Given the description of an element on the screen output the (x, y) to click on. 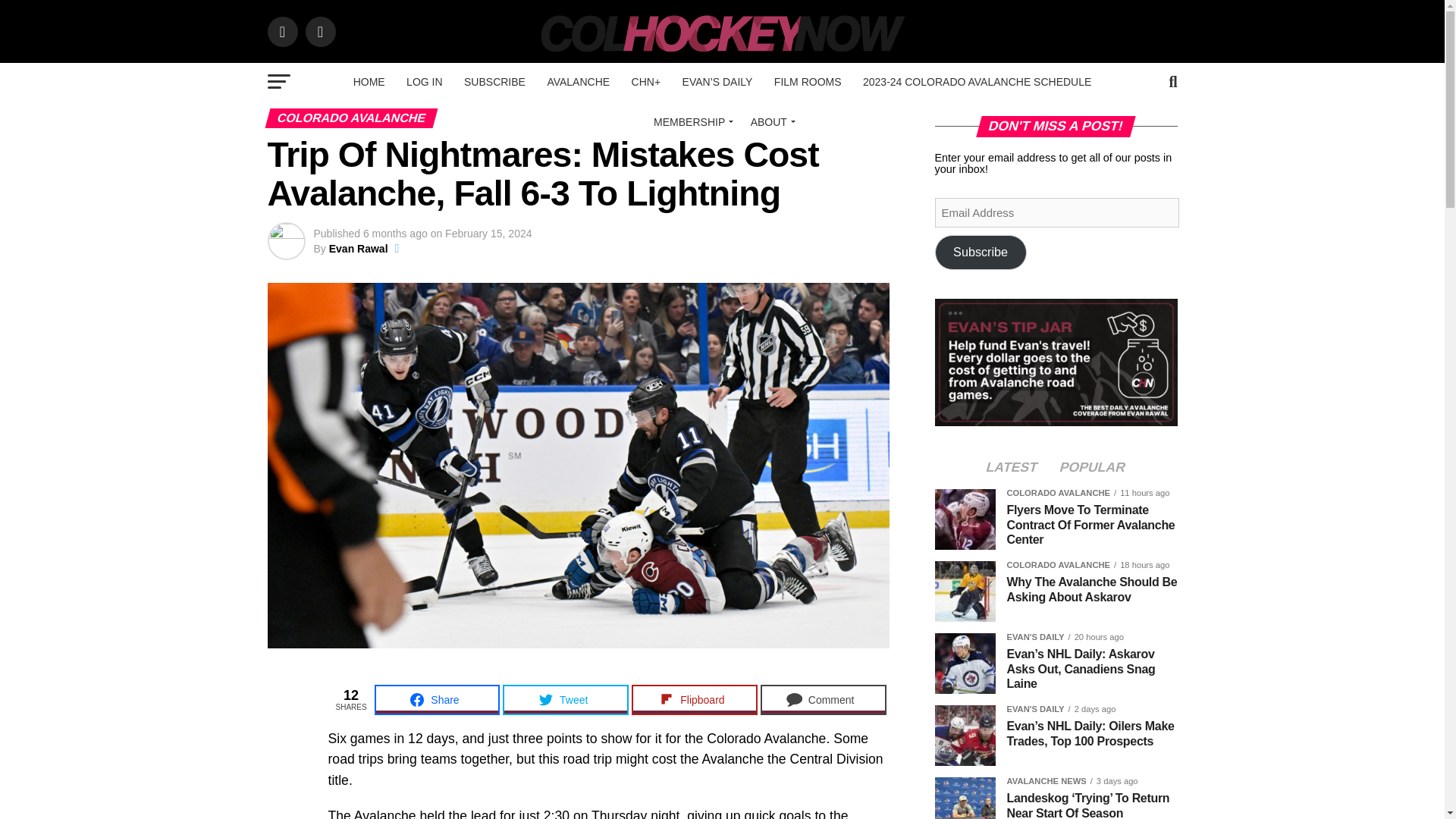
Share on Flipboard (694, 699)
Share on Share (437, 699)
HOME (368, 81)
LOG IN (424, 81)
SUBSCRIBE (494, 81)
Posts by Evan Rawal (358, 248)
Share on Comment (823, 699)
AVALANCHE (577, 81)
Share on Tweet (565, 699)
